Given the description of an element on the screen output the (x, y) to click on. 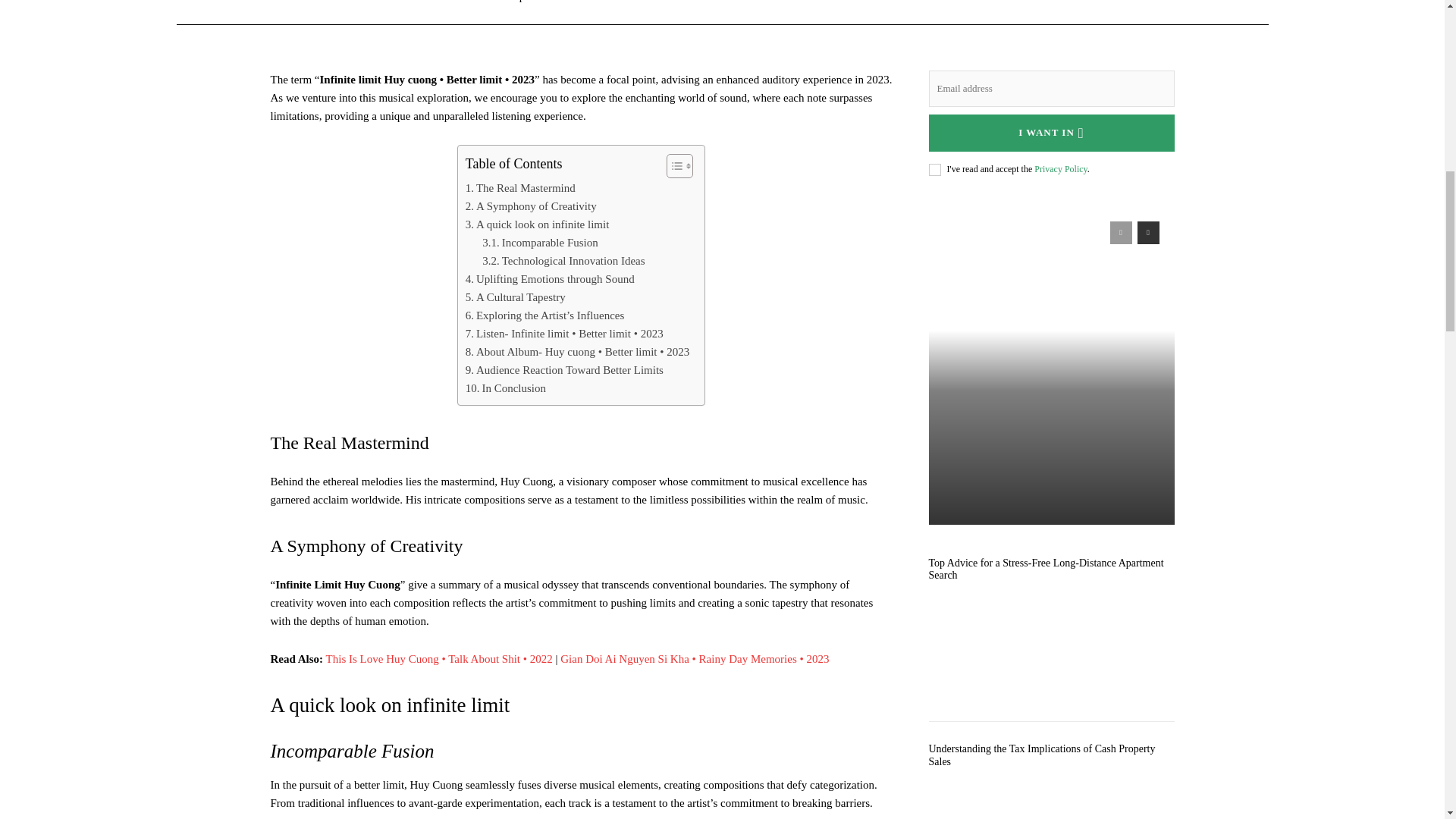
A Symphony of Creativity (530, 206)
The Real Mastermind (520, 188)
A quick look on infinite limit  (537, 224)
Technological Innovation Ideas (563, 260)
Incomparable Fusion (539, 242)
